Given the description of an element on the screen output the (x, y) to click on. 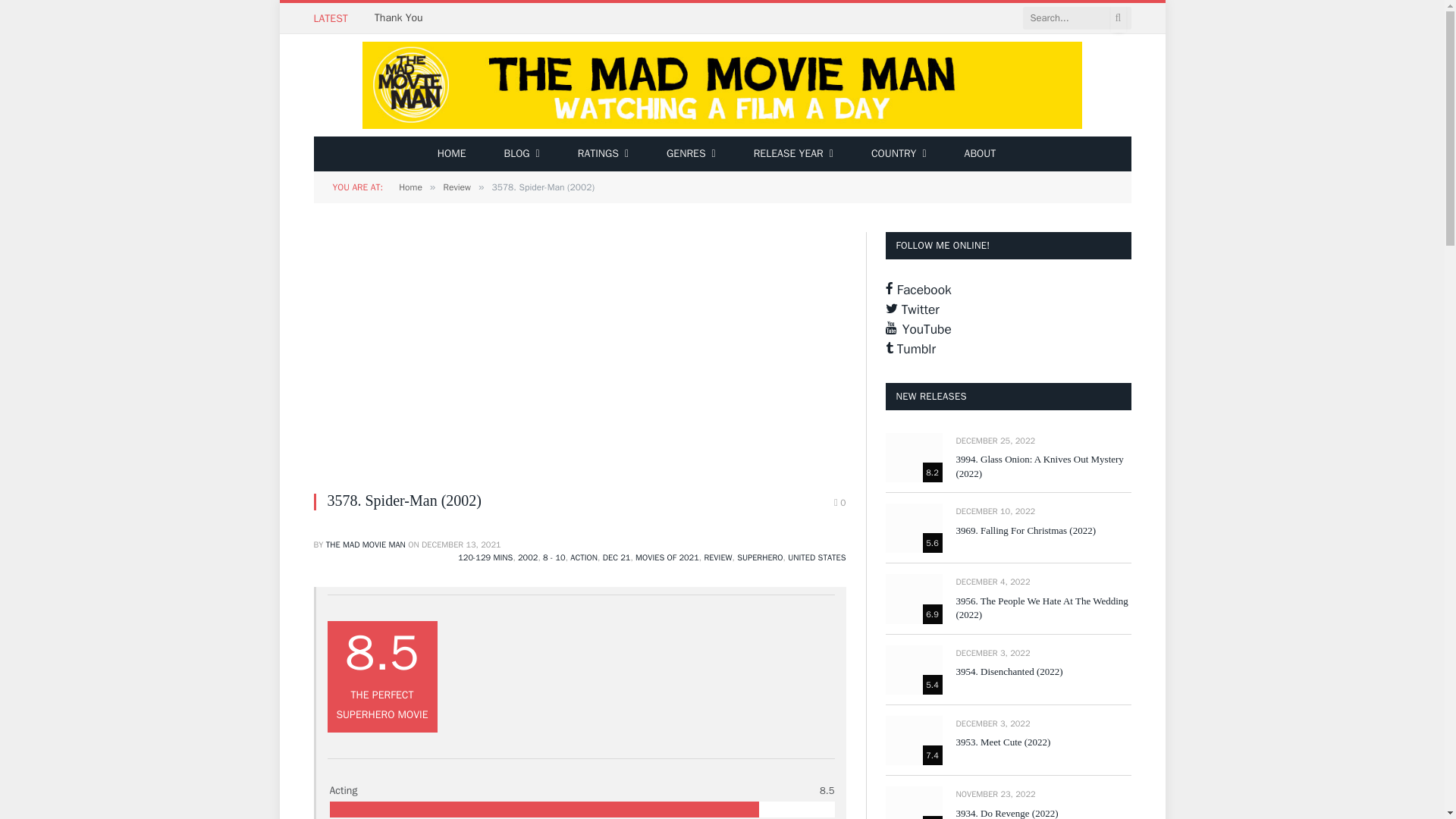
The Mad Movie Man (722, 85)
Thank You (402, 18)
BLOG (520, 153)
RATINGS (603, 153)
HOME (451, 153)
2021-12-13 (461, 543)
Posts by The Mad Movie Man (366, 543)
